Given the description of an element on the screen output the (x, y) to click on. 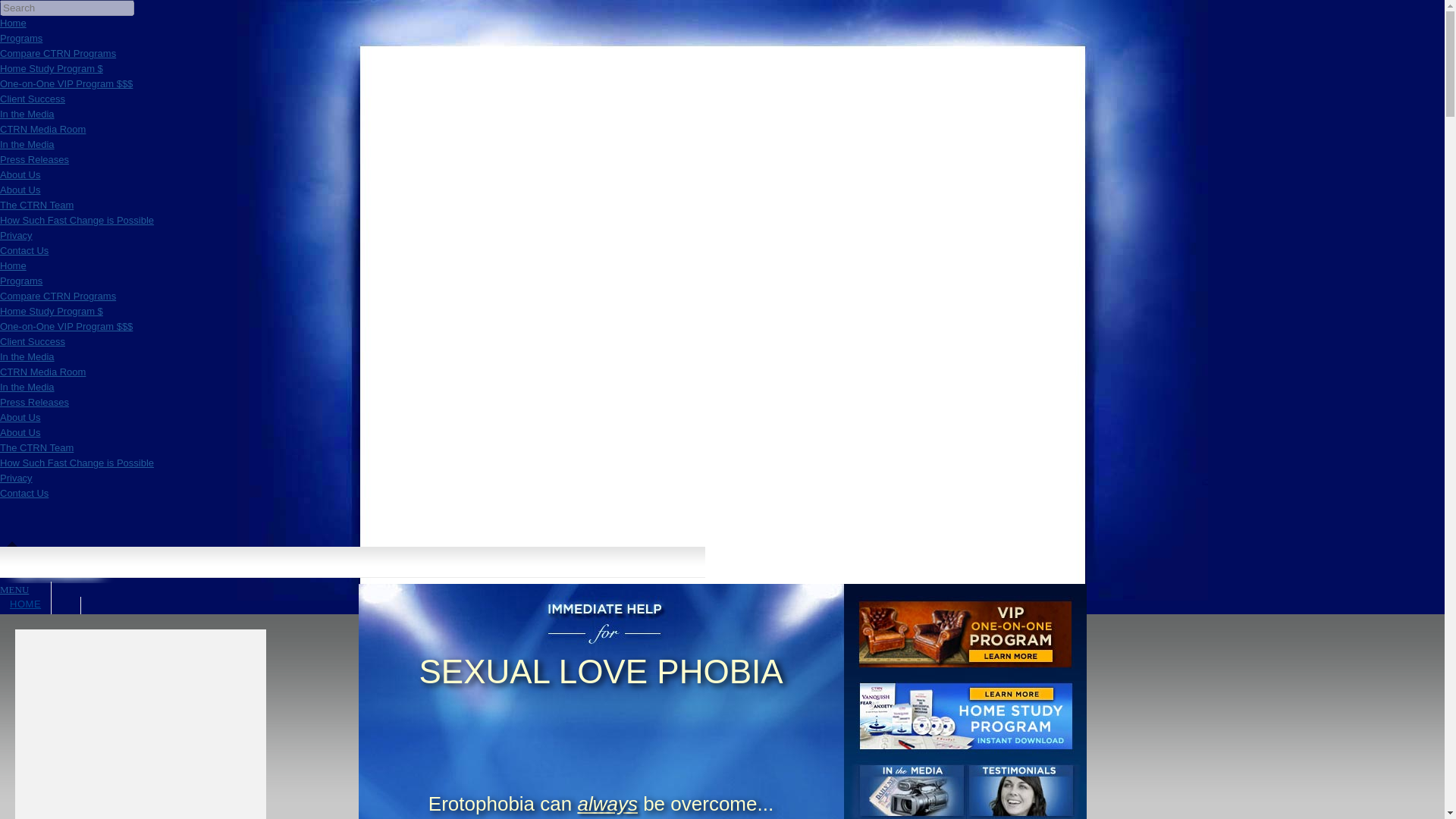
About Us (20, 432)
Compare CTRN Programs (58, 296)
The latest press releases from CTRN (34, 159)
In the Media (27, 113)
Copies of recent TV footage and press coverage (27, 143)
How Such Fast Change is Possible (77, 220)
The CTRN Team (37, 204)
Client Success (32, 98)
Meet the team behind CTRN (37, 204)
